Given the description of an element on the screen output the (x, y) to click on. 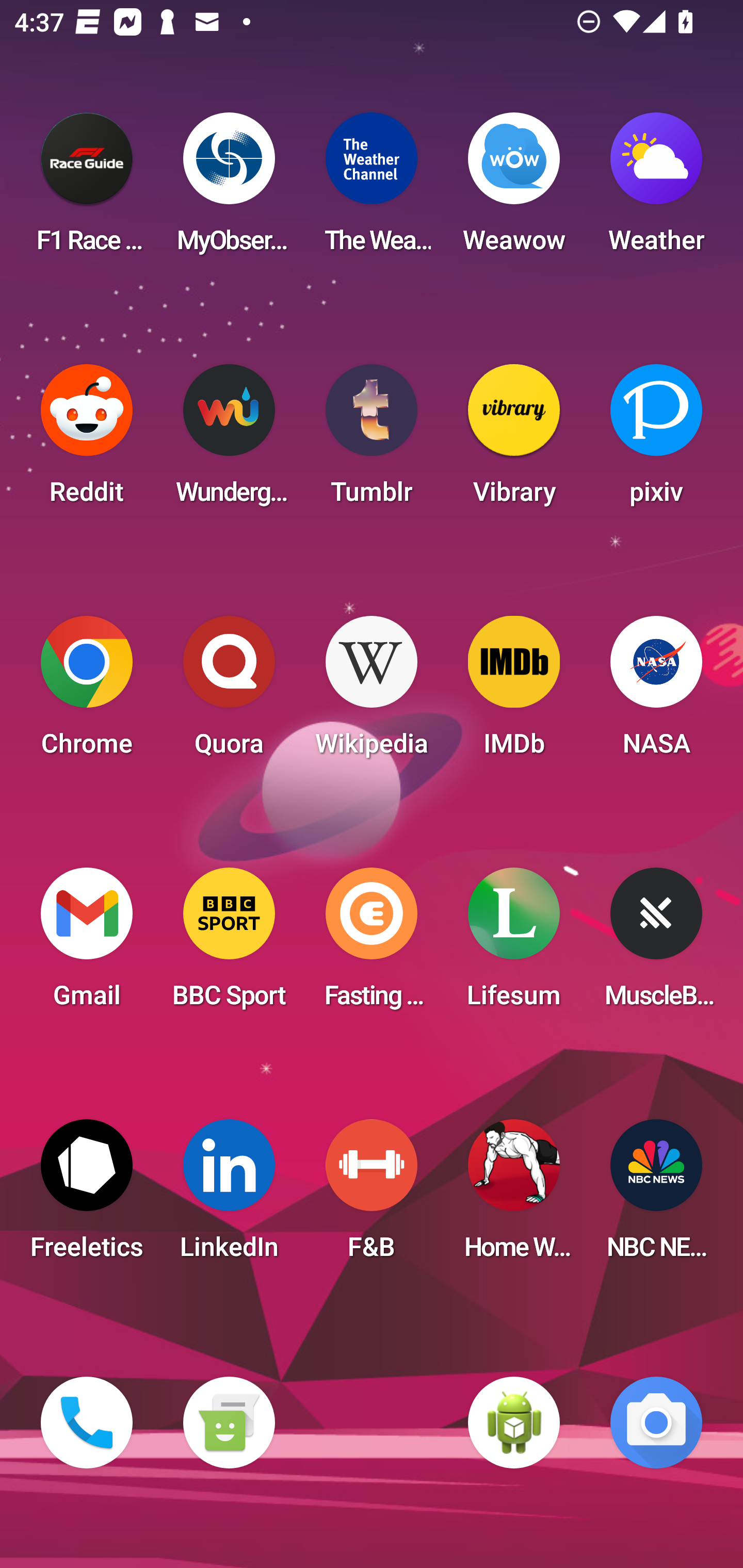
F1 Race Guide (86, 188)
MyObservatory (228, 188)
The Weather Channel (371, 188)
Weawow (513, 188)
Weather (656, 188)
Reddit (86, 440)
Wunderground (228, 440)
Tumblr (371, 440)
Vibrary (513, 440)
pixiv (656, 440)
Chrome (86, 692)
Quora (228, 692)
Wikipedia (371, 692)
IMDb (513, 692)
NASA (656, 692)
Gmail (86, 943)
BBC Sport (228, 943)
Fasting Coach (371, 943)
Lifesum (513, 943)
MuscleBooster (656, 943)
Freeletics (86, 1195)
LinkedIn (228, 1195)
F&B (371, 1195)
Home Workout (513, 1195)
NBC NEWS (656, 1195)
Phone (86, 1422)
Messaging (228, 1422)
WebView Browser Tester (513, 1422)
Camera (656, 1422)
